Given the description of an element on the screen output the (x, y) to click on. 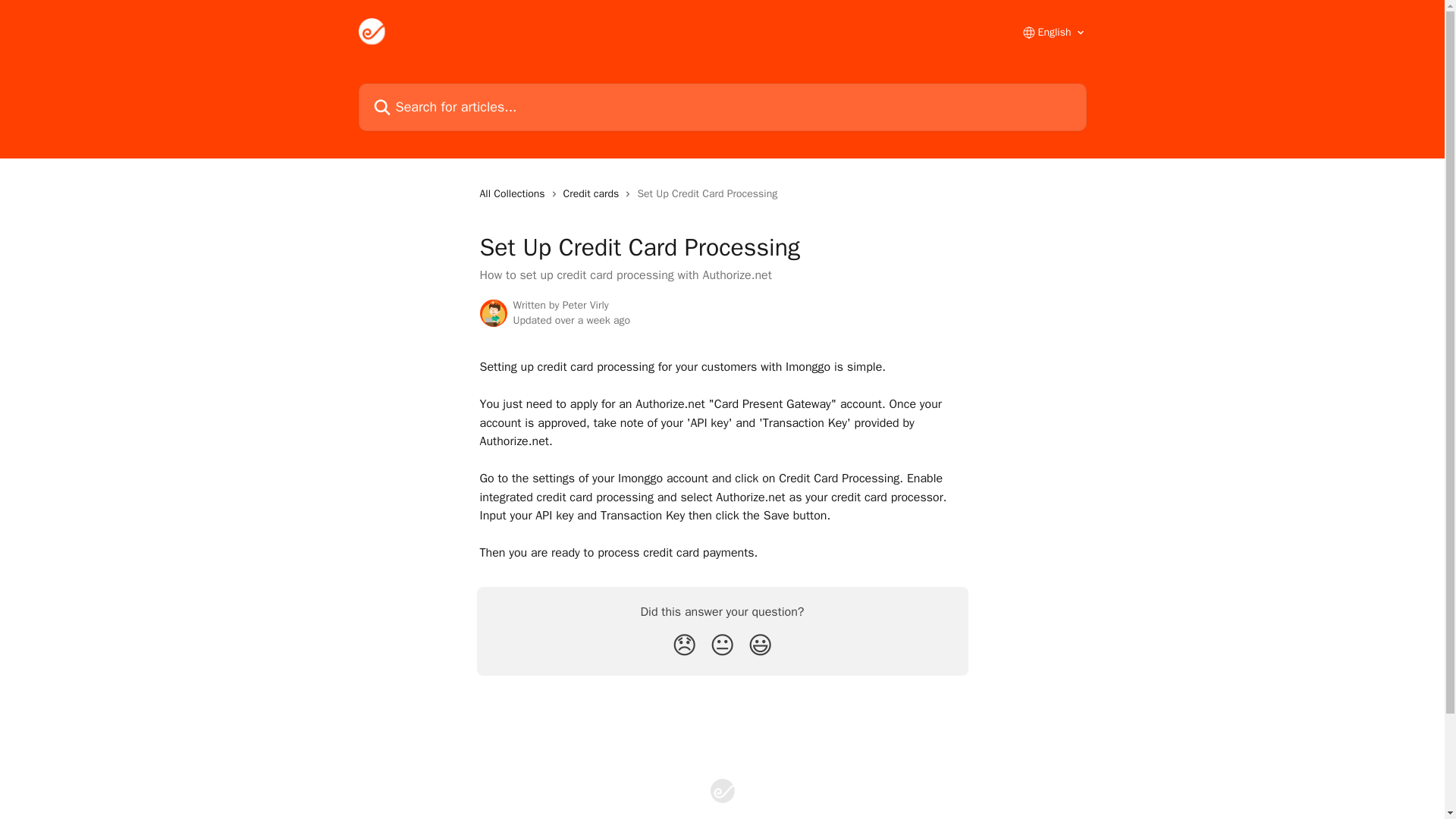
All Collections (514, 193)
Credit cards (594, 193)
